Given the description of an element on the screen output the (x, y) to click on. 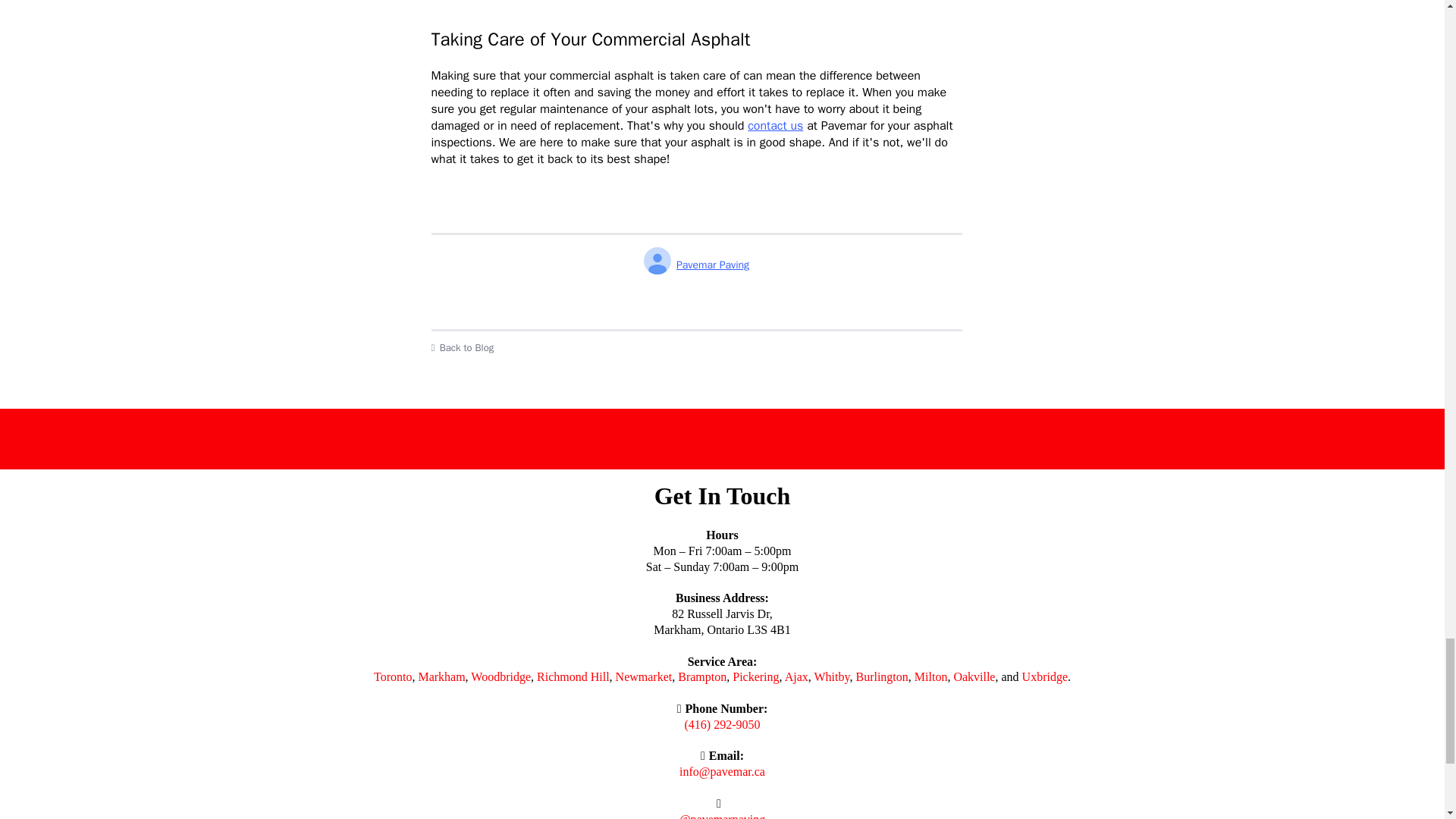
Toronto (393, 676)
Pavemar Paving (696, 265)
Richmond Hill (573, 676)
Woodbridge (500, 676)
Back to Blog (695, 347)
contact us (775, 125)
Newmarket (643, 676)
Markham (440, 676)
